Given the description of an element on the screen output the (x, y) to click on. 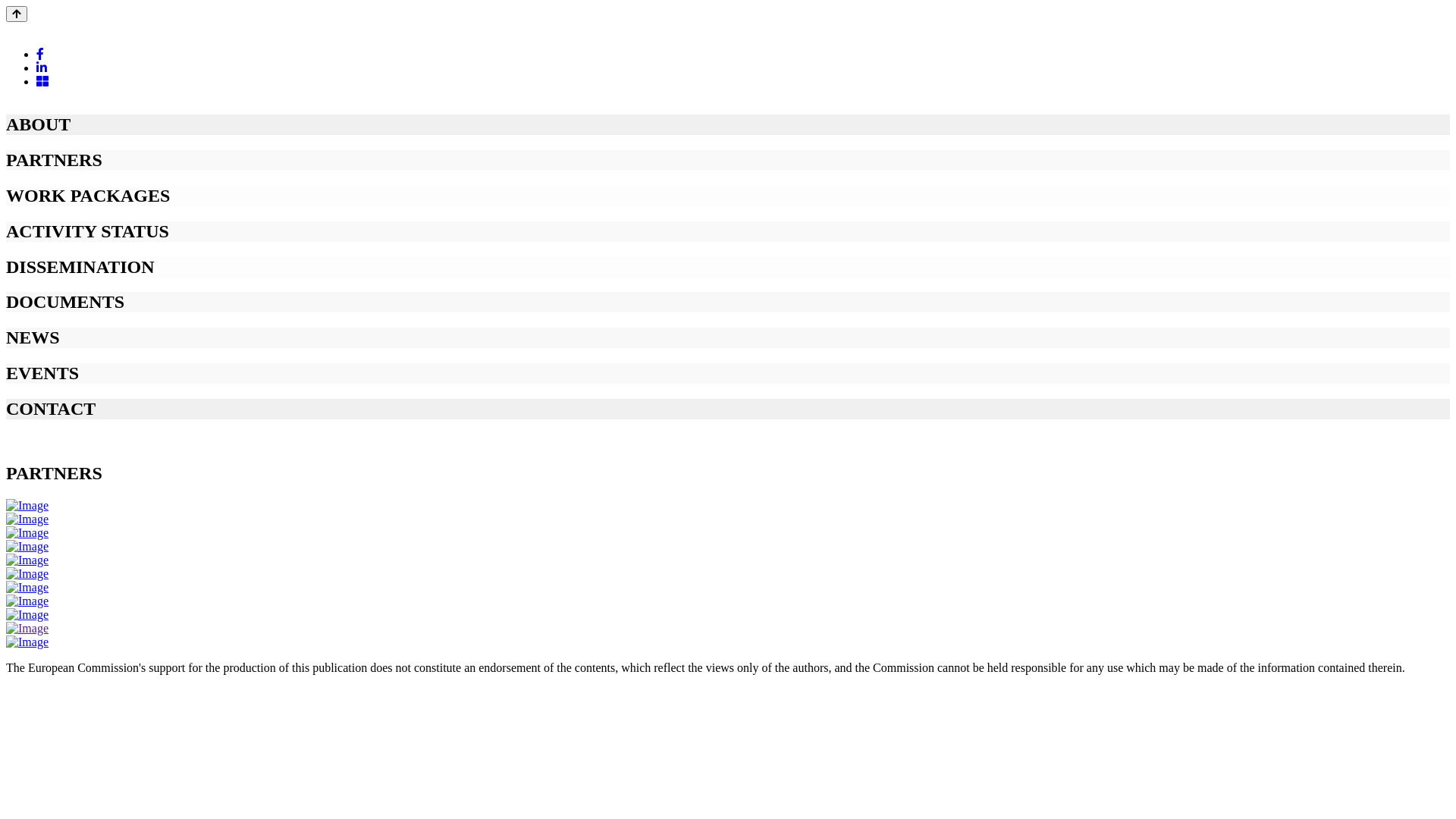
Go to top Element type: hover (16, 13)
WORK PACKAGES Element type: text (727, 195)
CONTACT Element type: text (727, 408)
NEWS Element type: text (727, 337)
ABOUT Element type: text (727, 124)
PARTNERS Element type: text (727, 160)
ACTIVITY STATUS Element type: text (727, 231)
DOCUMENTS Element type: text (727, 301)
DISSEMINATION Element type: text (727, 267)
EVENTS Element type: text (727, 373)
